Given the description of an element on the screen output the (x, y) to click on. 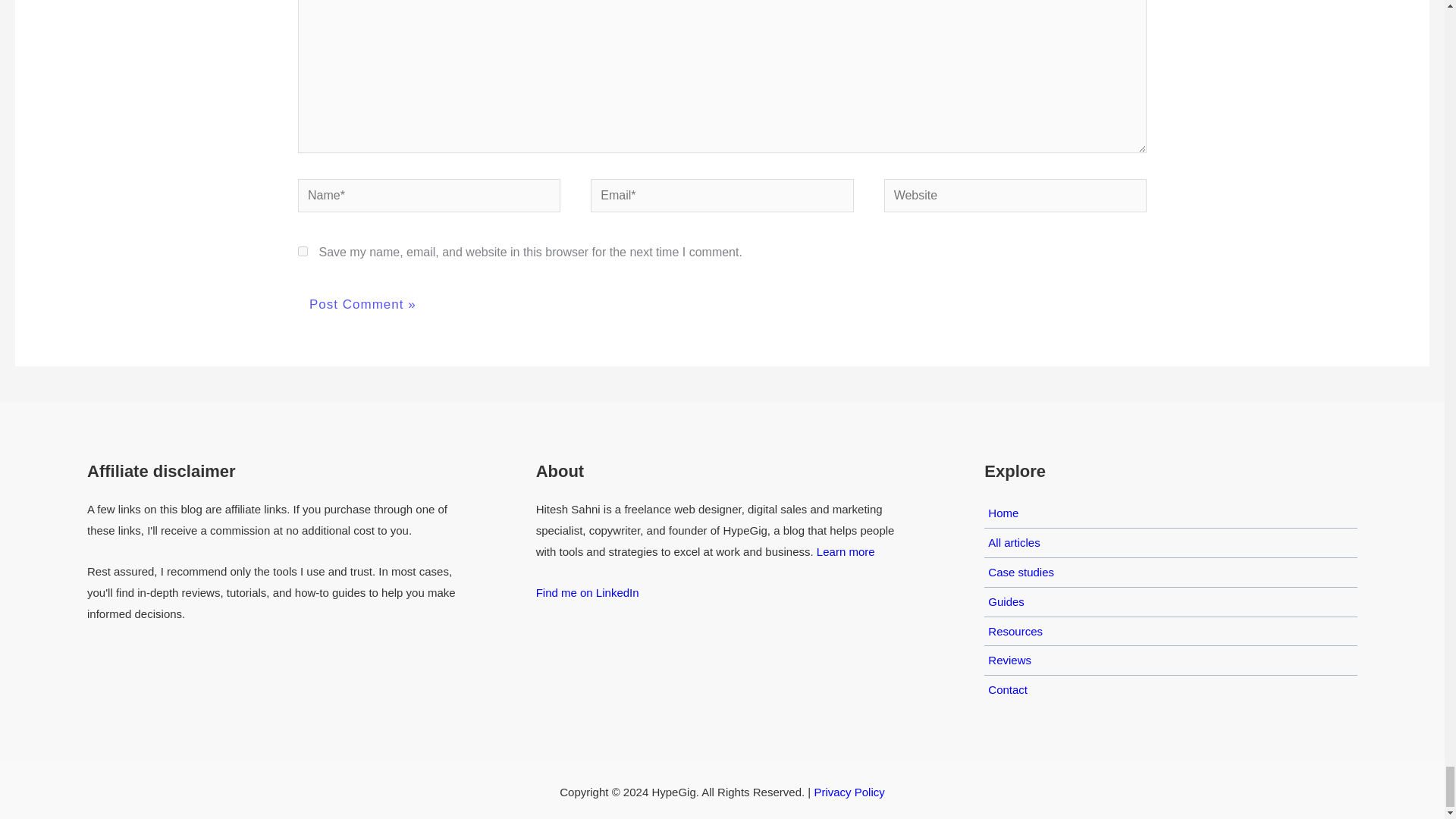
yes (302, 251)
